Given the description of an element on the screen output the (x, y) to click on. 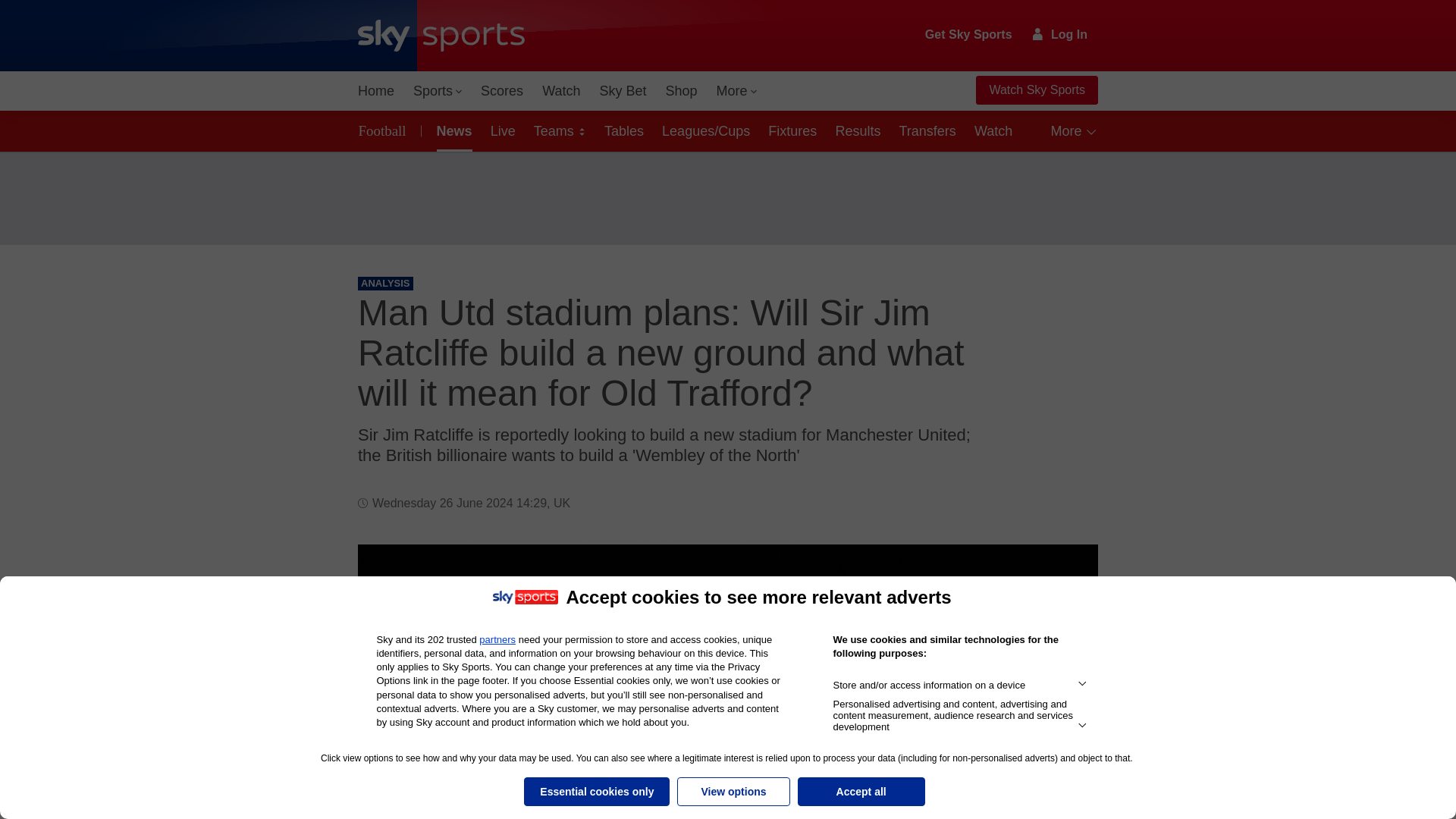
Sports (437, 91)
Watch (561, 91)
Football (385, 130)
Log In (1060, 33)
Watch Sky Sports (1036, 90)
News (451, 130)
Scores (502, 91)
Get Sky Sports (968, 34)
Shop (681, 91)
Sky Bet (622, 91)
Share (1067, 574)
More (736, 91)
Home (375, 91)
